Given the description of an element on the screen output the (x, y) to click on. 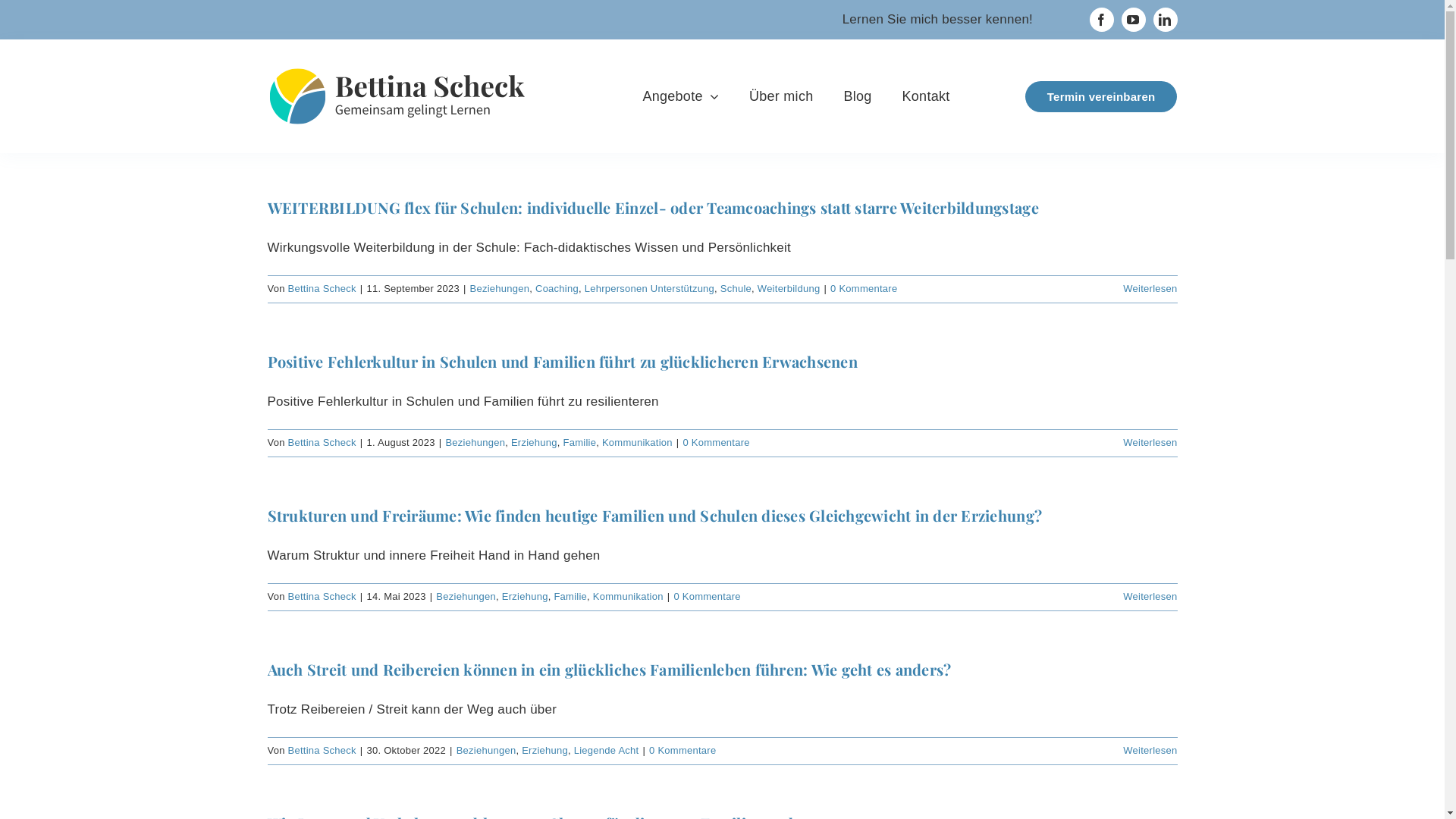
Beziehungen Element type: text (465, 596)
0 Kommentare Element type: text (715, 442)
Weiterlesen Element type: text (1149, 750)
Schule Element type: text (735, 288)
Familie Element type: text (579, 442)
Erziehung Element type: text (534, 442)
Bettina Scheck Element type: text (322, 596)
Blog Element type: text (857, 96)
Weiterlesen Element type: text (1149, 596)
Bettina Scheck Element type: text (322, 288)
Angebote Element type: text (680, 96)
0 Kommentare Element type: text (863, 288)
Kommunikation Element type: text (628, 596)
Kommunikation Element type: text (637, 442)
Weiterlesen Element type: text (1149, 442)
Liegende Acht Element type: text (606, 750)
Coaching Element type: text (556, 288)
Erziehung Element type: text (544, 750)
Erziehung Element type: text (525, 596)
Beziehungen Element type: text (486, 750)
Beziehungen Element type: text (500, 288)
0 Kommentare Element type: text (682, 750)
Bettina Scheck Element type: text (322, 750)
Kontakt Element type: text (926, 96)
Weiterbildung Element type: text (788, 288)
Familie Element type: text (569, 596)
Weiterlesen Element type: text (1149, 288)
Bettina Scheck Element type: text (322, 442)
Beziehungen Element type: text (475, 442)
Termin vereinbaren Element type: text (1101, 95)
0 Kommentare Element type: text (706, 596)
